Given the description of an element on the screen output the (x, y) to click on. 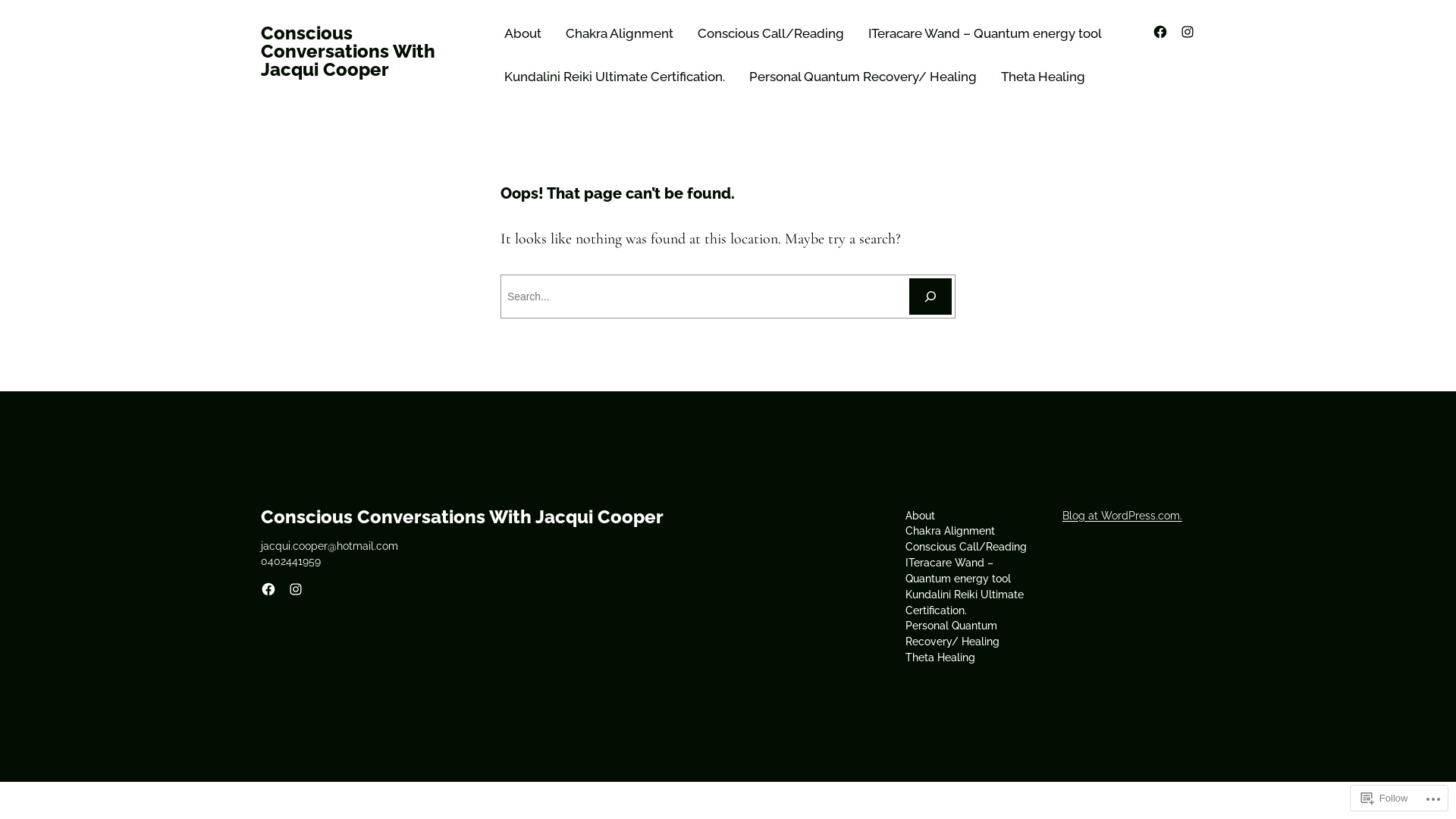
Blog at WordPress.com. Element type: text (1122, 515)
About Element type: text (522, 33)
Personal Quantum Recovery/ Healing Element type: text (862, 76)
Theta Healing Element type: text (940, 657)
Chakra Alignment Element type: text (619, 33)
About Element type: text (920, 516)
Chakra Alignment Element type: text (949, 531)
Theta Healing Element type: text (1043, 76)
Conscious Conversations With Jacqui Cooper Element type: text (461, 516)
Conscious Call/Reading Element type: text (965, 547)
Conscious Call/Reading Element type: text (770, 33)
Personal Quantum Recovery/ Healing Element type: text (971, 633)
Follow Element type: text (1384, 797)
Conscious Conversations With Jacqui Cooper Element type: text (347, 50)
Kundalini Reiki Ultimate Certification. Element type: text (614, 76)
Kundalini Reiki Ultimate Certification. Element type: text (971, 602)
